Given the description of an element on the screen output the (x, y) to click on. 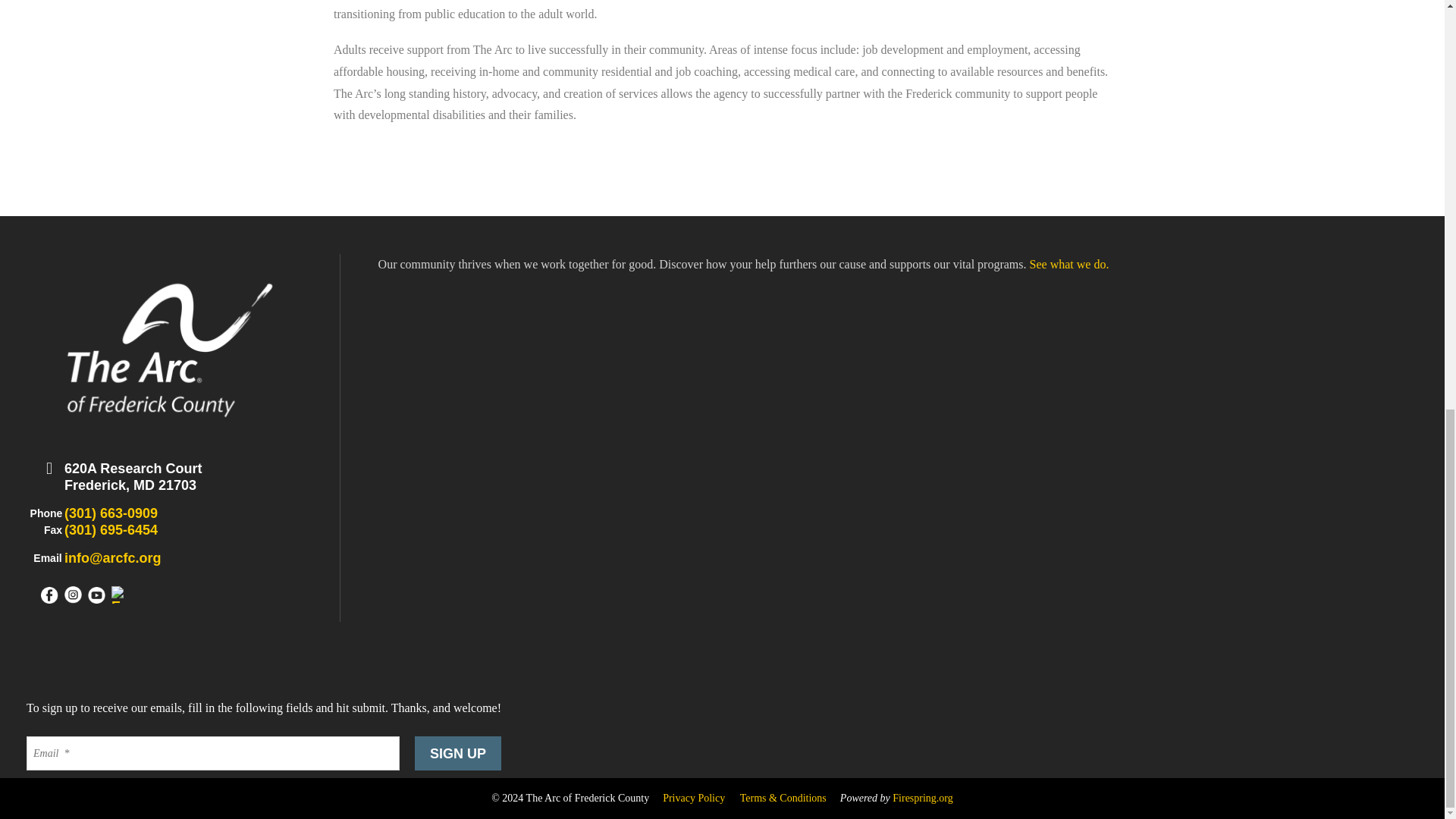
Sign Up (457, 753)
logo (169, 347)
